Given the description of an element on the screen output the (x, y) to click on. 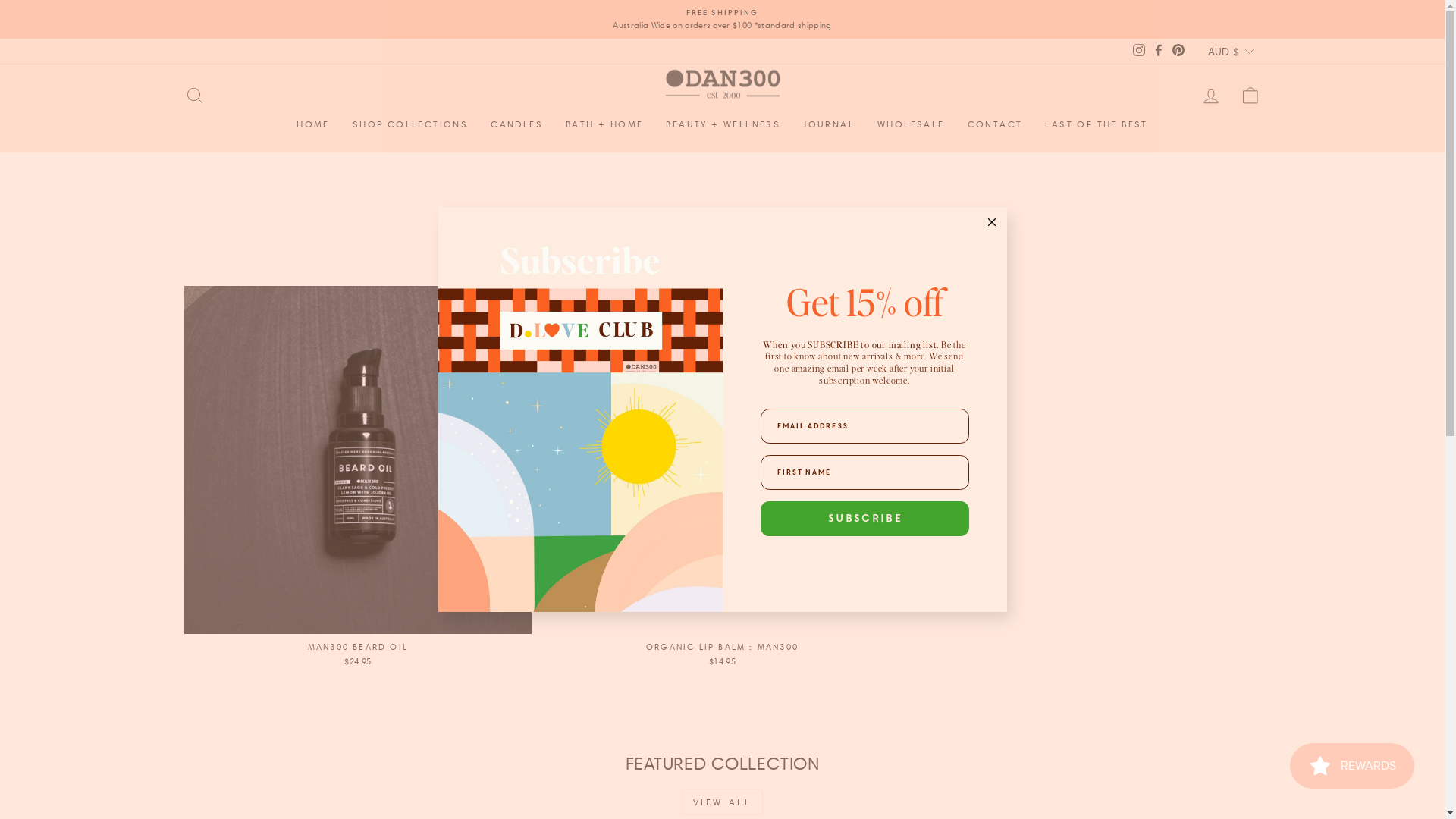
BEAUTY + WELLNESS Element type: text (722, 124)
MAN300 BEARD OIL
$24.95 Element type: text (357, 478)
Facebook Element type: text (1158, 50)
LAST OF THE BEST Element type: text (1095, 124)
BATH + HOME Element type: text (604, 124)
CART Element type: text (1249, 95)
SEARCH Element type: text (193, 95)
WHOLESALE Element type: text (911, 124)
Pinterest Element type: text (1178, 50)
CANDLES Element type: text (516, 124)
CONTACT Element type: text (995, 124)
Skip to content Element type: text (0, 0)
HOME Element type: text (313, 124)
LOG IN Element type: text (1210, 95)
Smile.io Rewards Program Launcher Element type: hover (1351, 765)
ORGANIC LIP BALM : MAN300
$14.95 Element type: text (722, 478)
Instagram Element type: text (1138, 50)
JOURNAL Element type: text (828, 124)
SHOP COLLECTIONS Element type: text (410, 124)
Subscribe Element type: text (863, 518)
VIEW ALL Element type: text (722, 801)
AUD $ Element type: text (1232, 50)
